Given the description of an element on the screen output the (x, y) to click on. 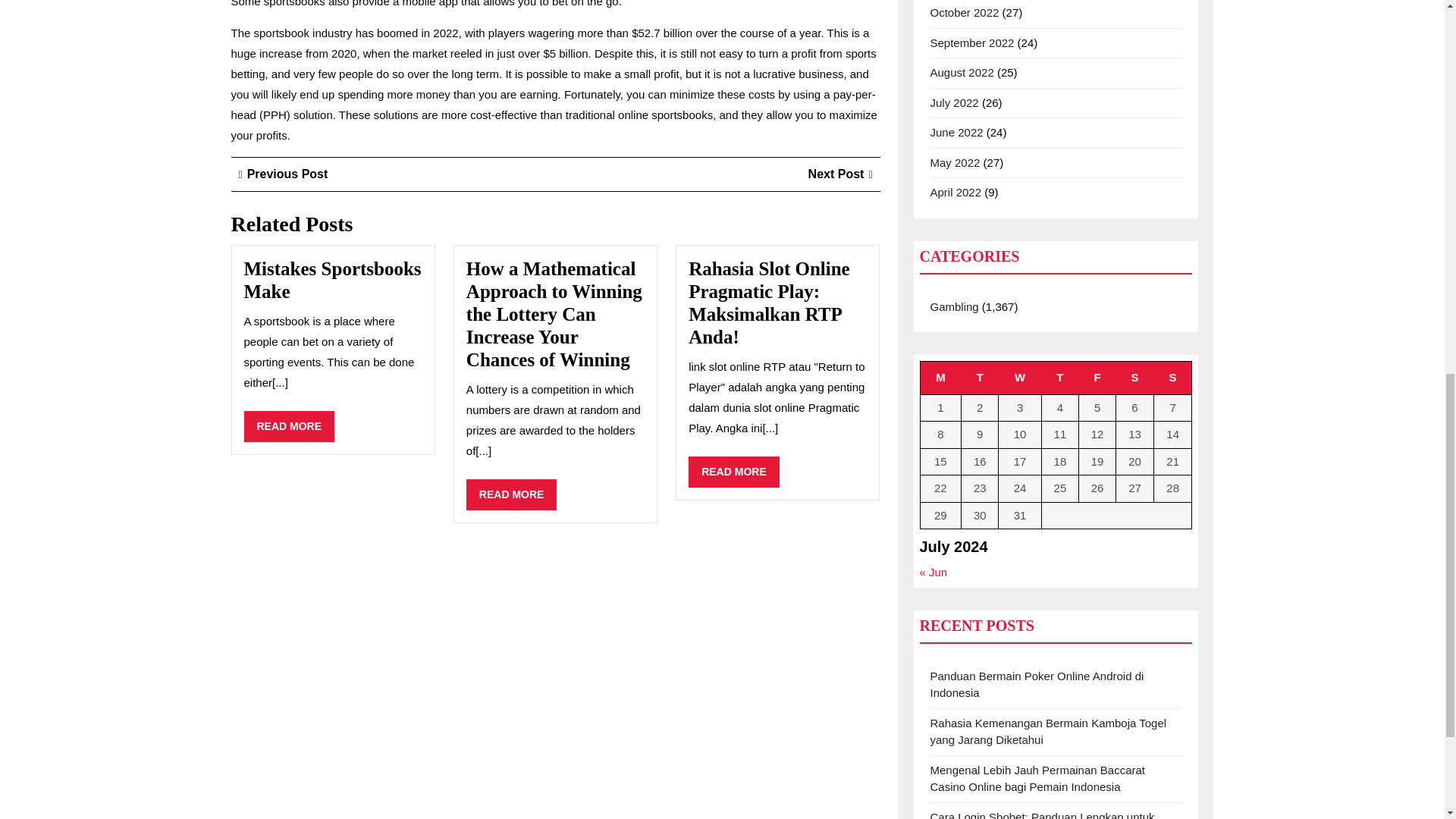
Friday (1097, 377)
Wednesday (1020, 377)
Rahasia Slot Online Pragmatic Play: Maksimalkan RTP Anda! (840, 173)
Monday (769, 302)
Mistakes Sportsbooks Make (282, 173)
Tuesday (940, 377)
Thursday (333, 280)
Sunday (733, 471)
Saturday (289, 426)
